Given the description of an element on the screen output the (x, y) to click on. 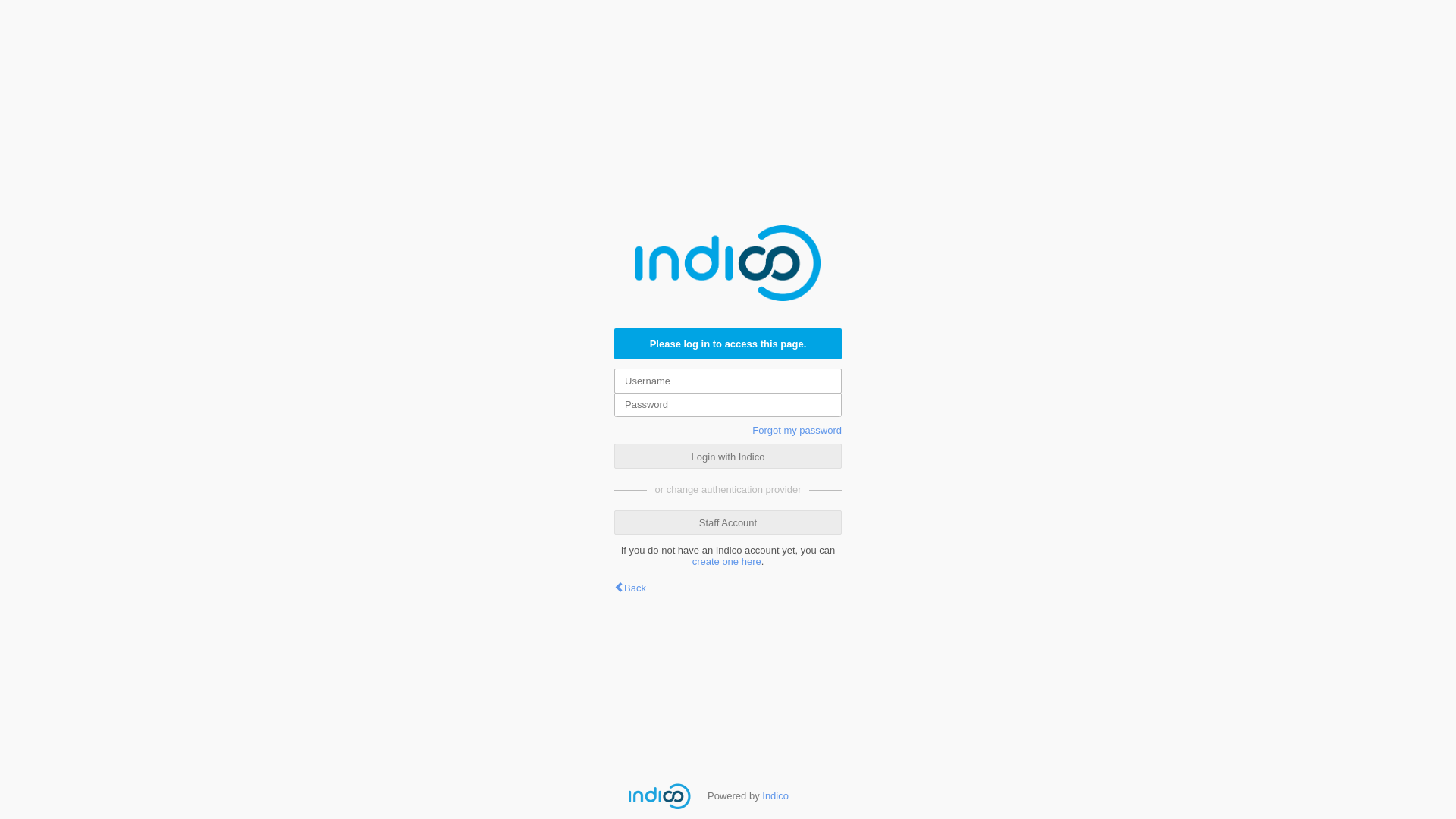
Indico Element type: text (775, 795)
Staff Account Element type: text (727, 521)
Login with Indico Element type: text (727, 455)
Forgot my password Element type: text (796, 430)
create one here Element type: text (726, 561)
Back Element type: text (630, 587)
